Given the description of an element on the screen output the (x, y) to click on. 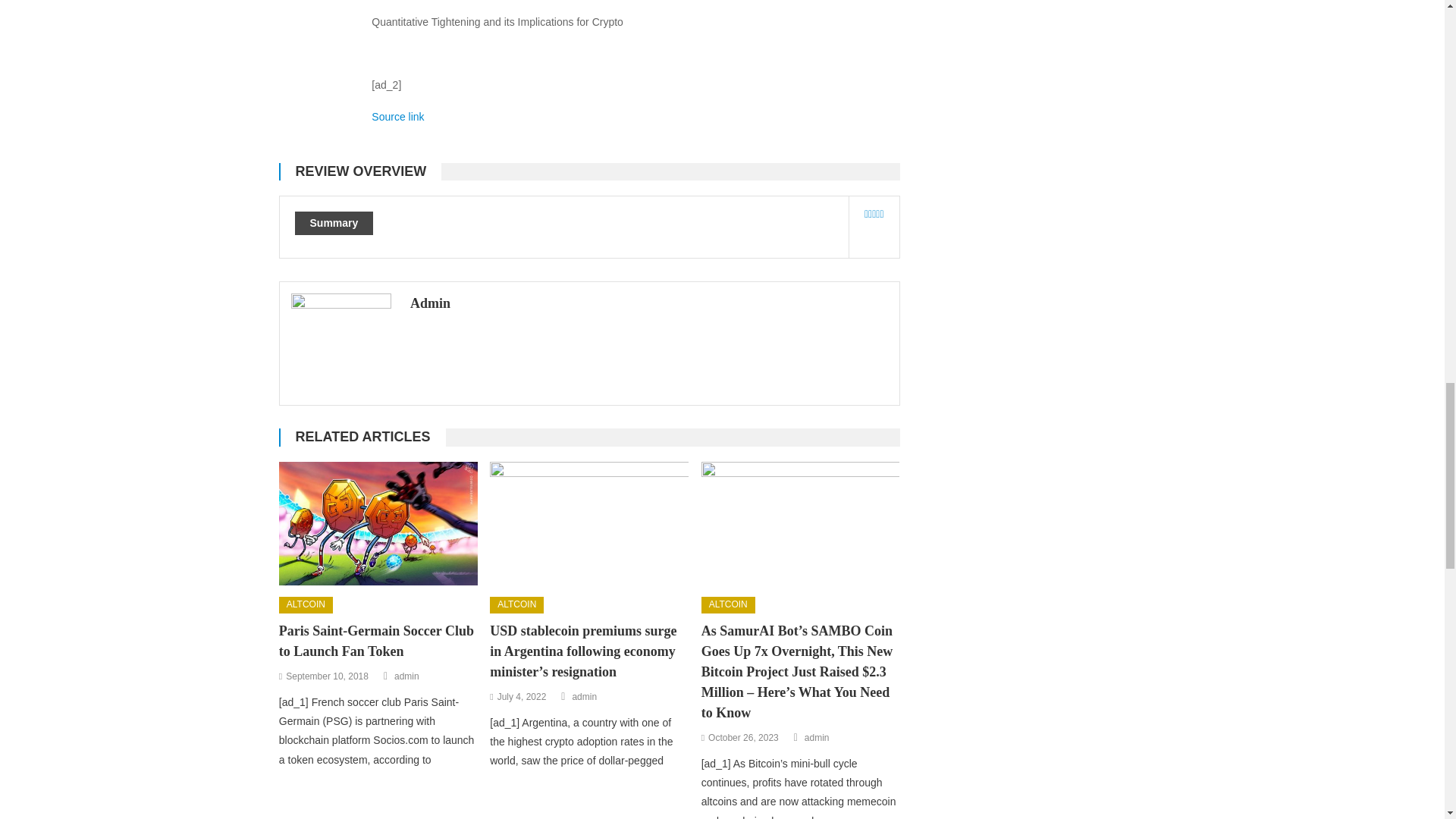
ALTCOIN (516, 605)
July 4, 2022 (635, 15)
admin (522, 697)
admin (406, 677)
September 10, 2018 (584, 697)
ALTCOIN (326, 677)
Paris Saint-Germain Soccer Club to Launch Fan Token (306, 605)
Paris Saint-Germain Soccer Club to Launch Fan Token (378, 523)
Source link (378, 640)
Admin (397, 116)
